Given the description of an element on the screen output the (x, y) to click on. 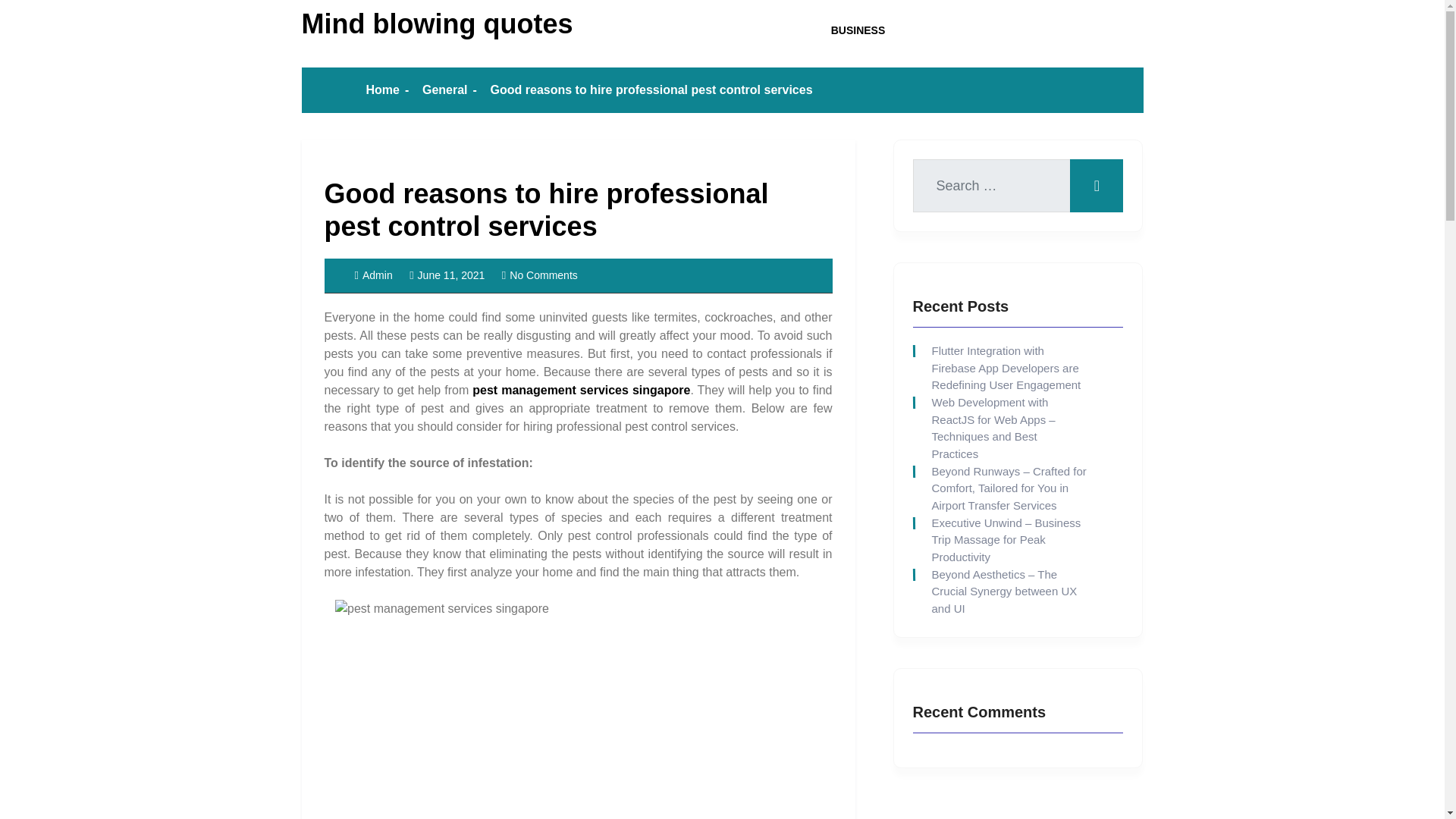
Admin (374, 275)
June 11, 2021 (446, 275)
General (444, 90)
BUSINESS (858, 30)
pest management services singapore (580, 390)
Good reasons to hire professional pest control services (546, 209)
Mind blowing quotes (437, 23)
Home (381, 90)
No Comments (540, 275)
